Given the description of an element on the screen output the (x, y) to click on. 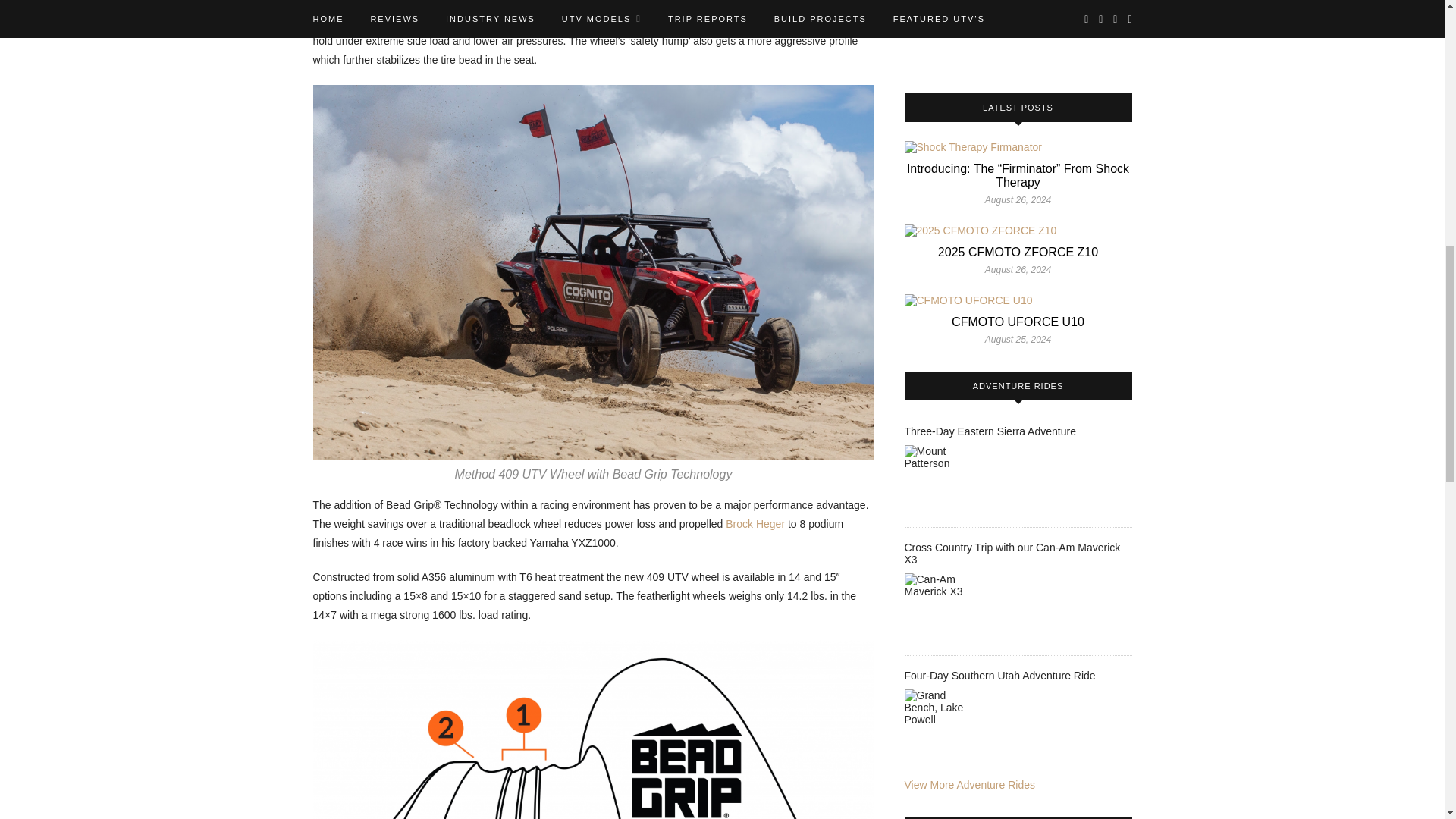
Cross Country Trip with our Can-Am Maverick X3 (941, 611)
Brock Heger (754, 523)
Three-Day Eastern Sierra Adventure (941, 482)
Four-Day Southern Utah Adventure Ride (941, 726)
YouTube video player (1017, 32)
